Given the description of an element on the screen output the (x, y) to click on. 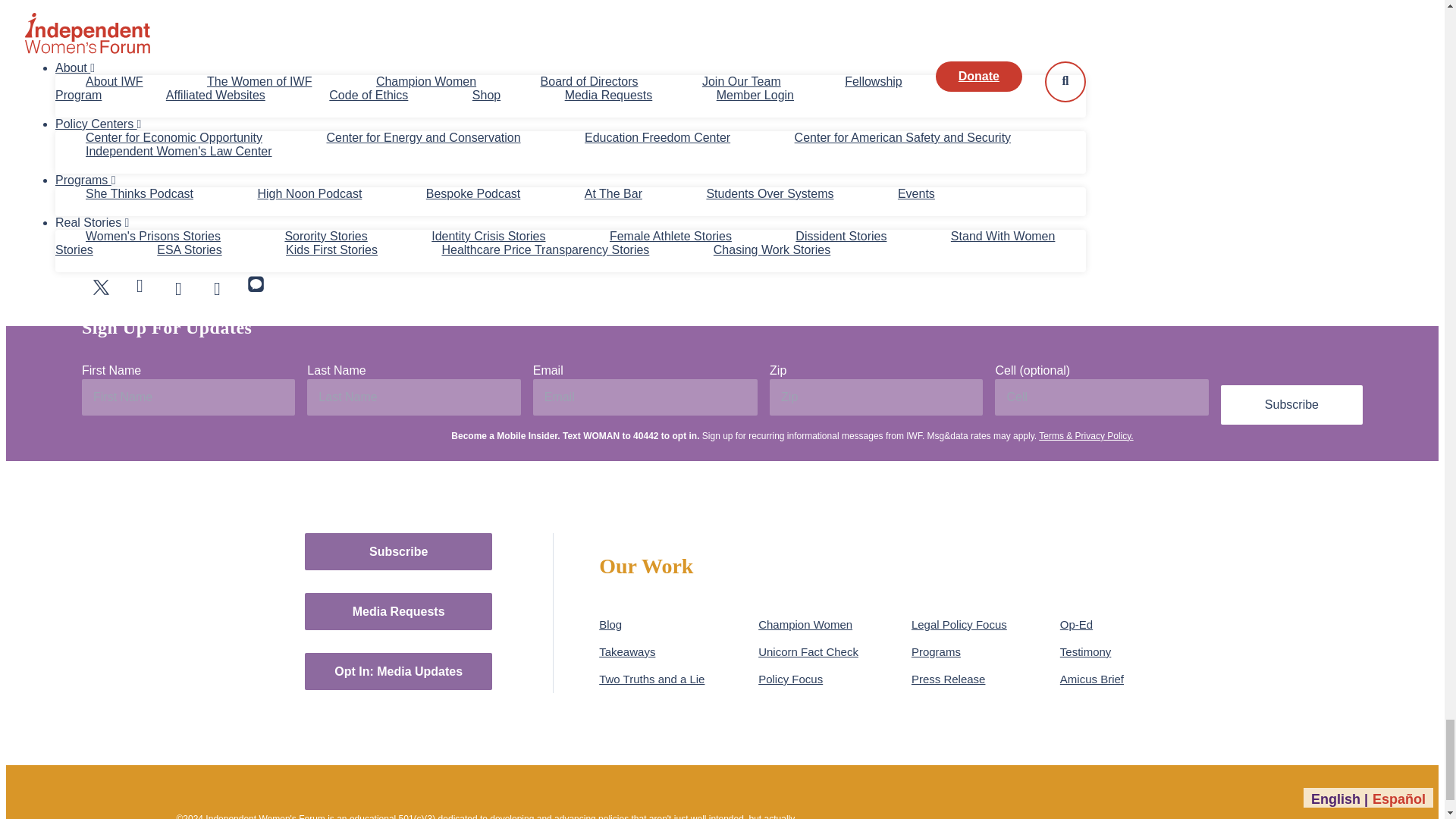
Subscribe (1291, 404)
